Given the description of an element on the screen output the (x, y) to click on. 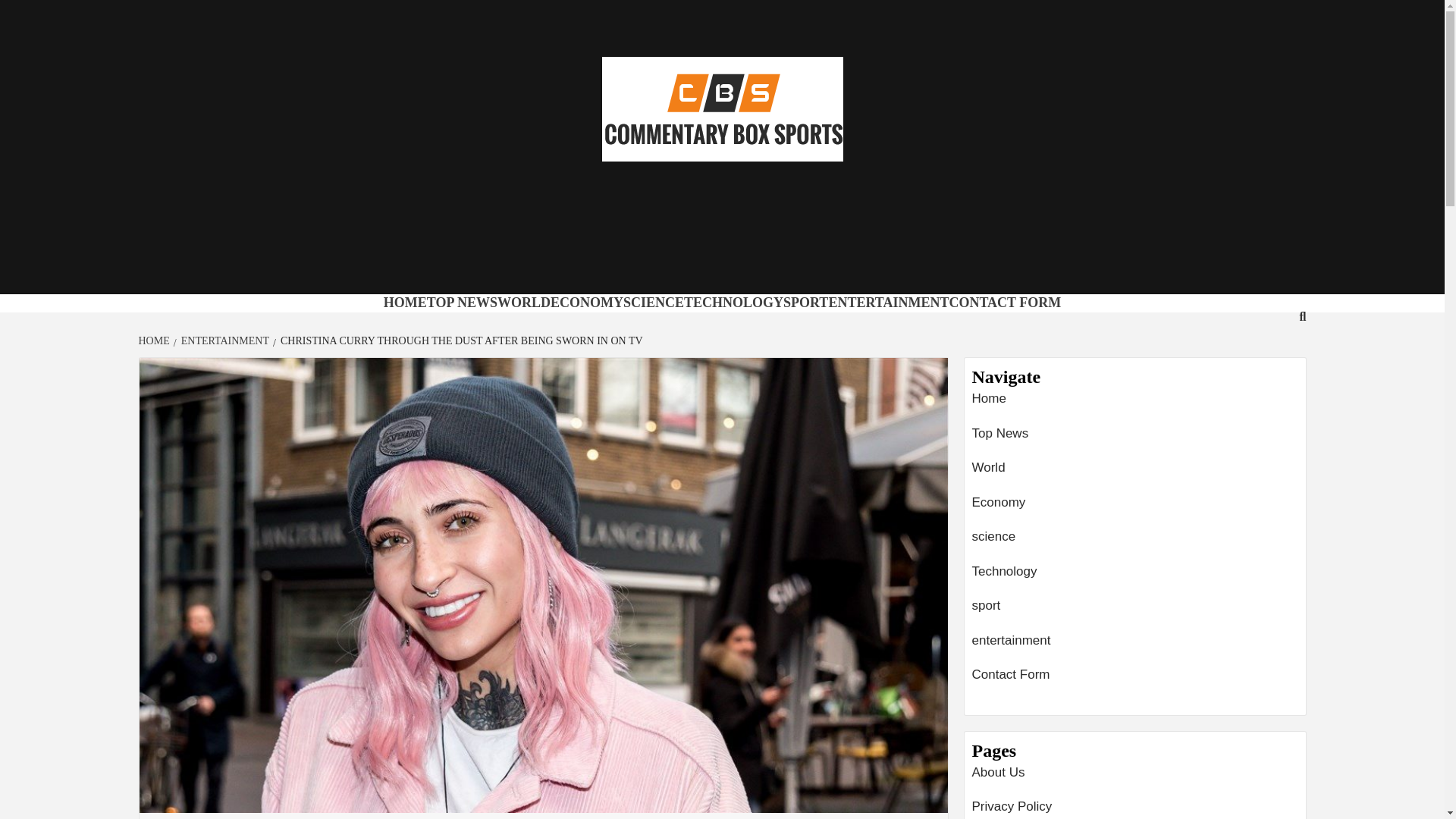
TECHNOLOGY (733, 302)
SPORT (805, 302)
ECONOMY (586, 302)
SCIENCE (653, 302)
HOME (155, 340)
WORLD (523, 302)
CONTACT FORM (1005, 302)
TOP NEWS (461, 302)
HOME (405, 302)
ENTERTAINMENT (223, 340)
ENTERTAINMENT (888, 302)
